Given the description of an element on the screen output the (x, y) to click on. 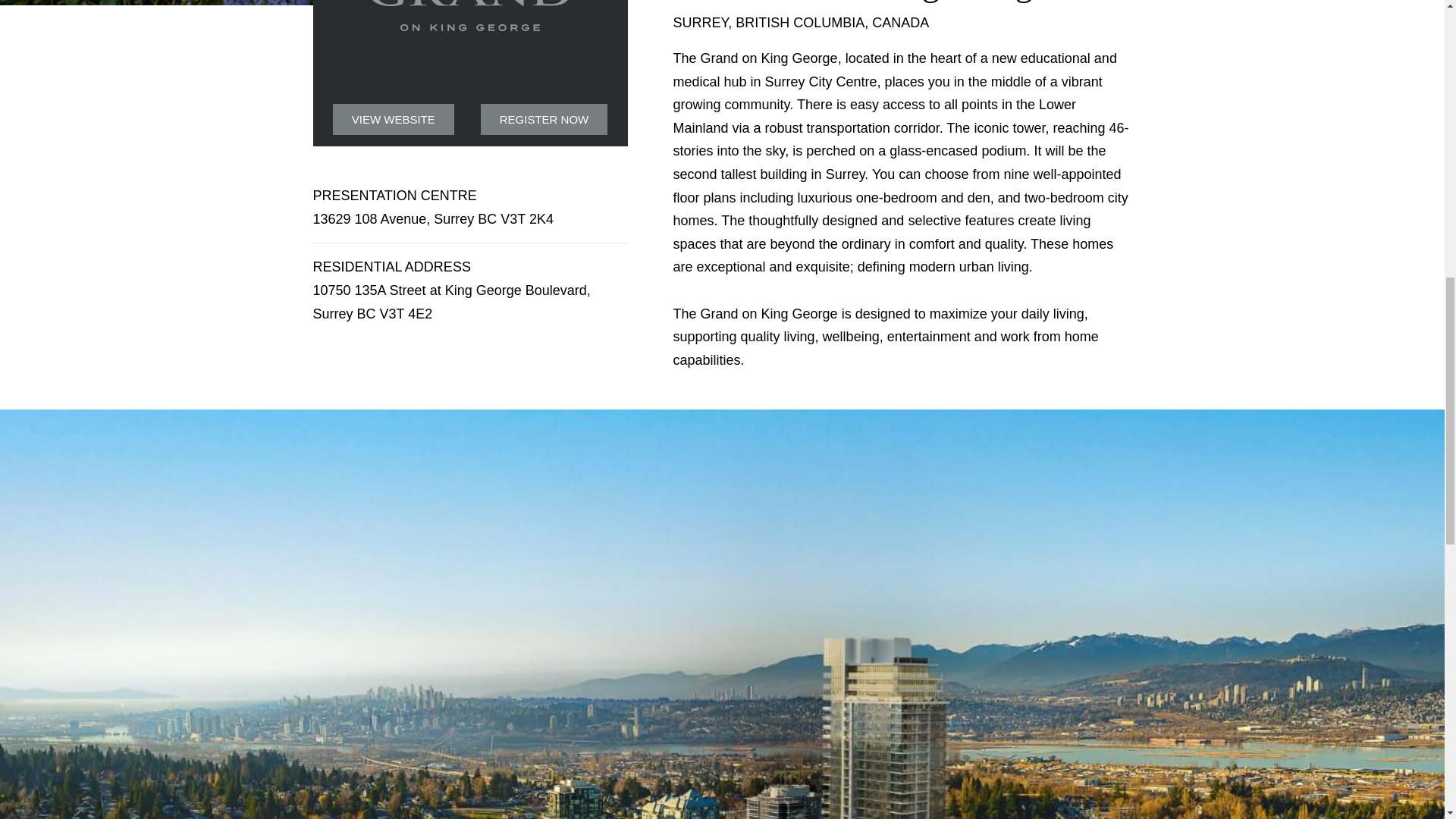
VIEW WEBSITE (393, 119)
REGISTER NOW (544, 119)
